Given the description of an element on the screen output the (x, y) to click on. 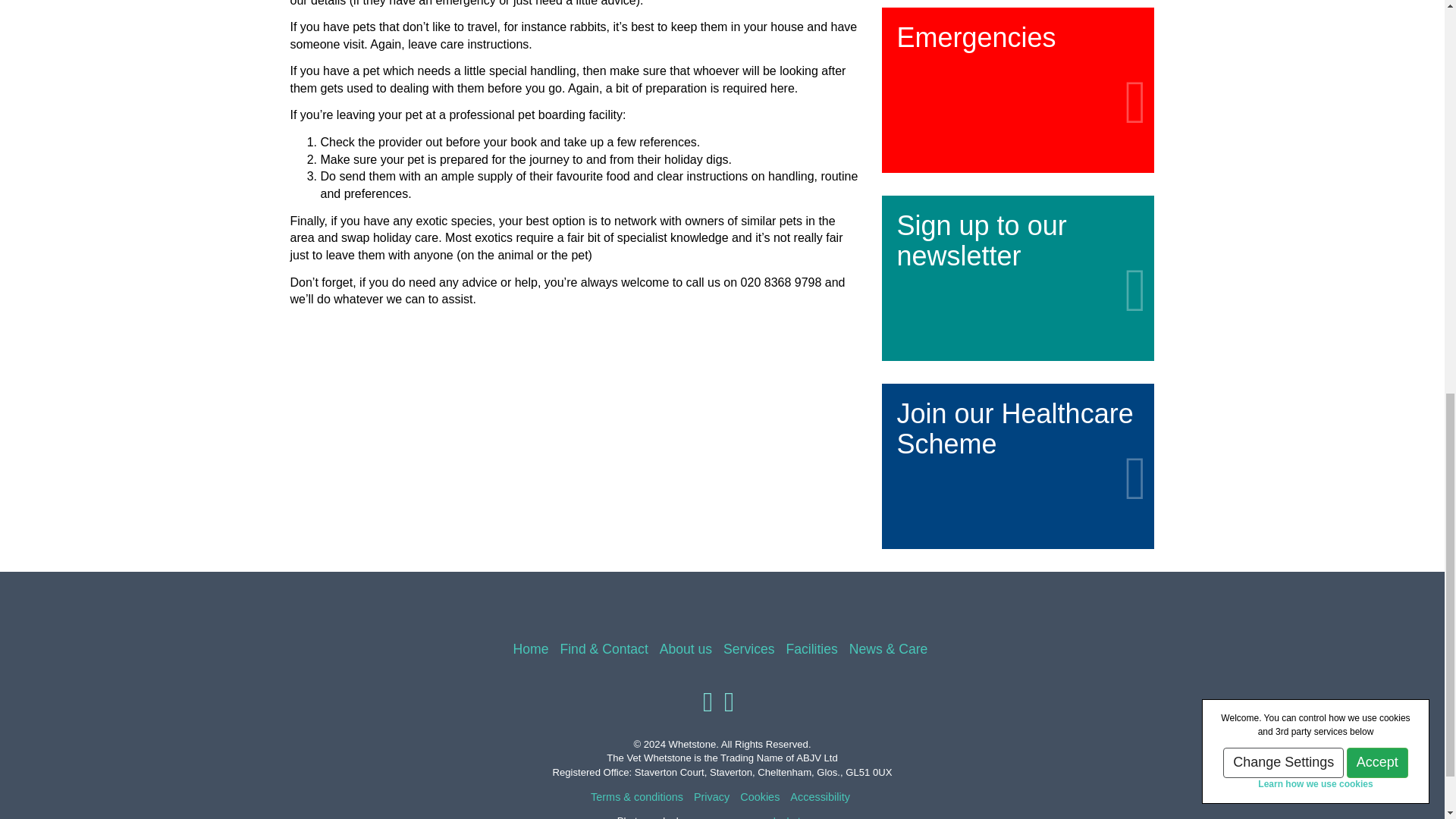
Sign up to our newsletter (1017, 261)
Join our Healthcare Scheme (1017, 450)
Emergencies (1017, 73)
